Given the description of an element on the screen output the (x, y) to click on. 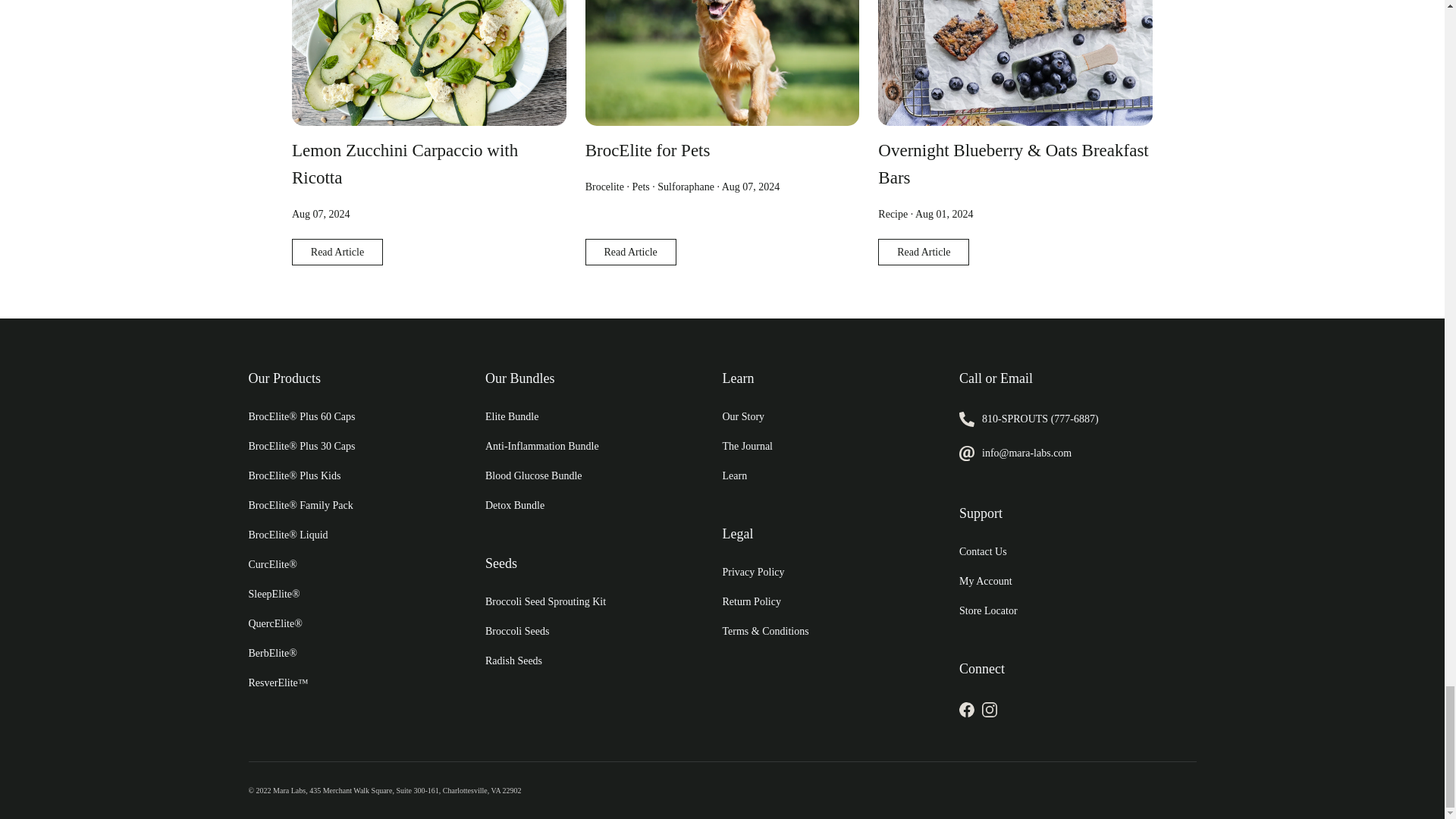
Read Article (631, 252)
Read Article (923, 252)
Read Article (337, 252)
Lemon Zucchini Carpaccio with Ricotta (405, 163)
BrocElite for Pets (647, 149)
